Given the description of an element on the screen output the (x, y) to click on. 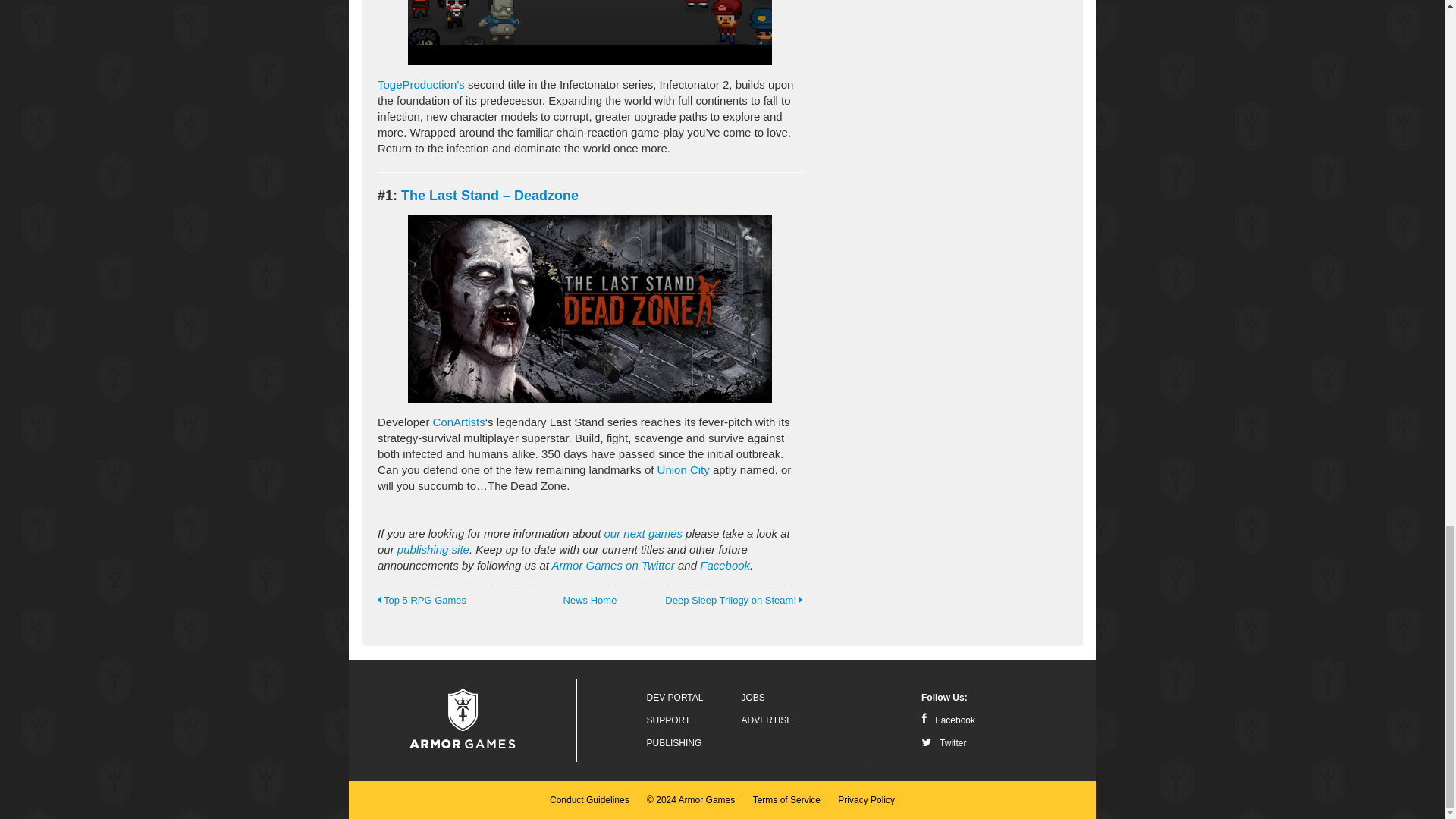
News Home (589, 600)
Top 5 RPG Games (460, 600)
Deep Sleep Trilogy on Steam! (718, 600)
